Given the description of an element on the screen output the (x, y) to click on. 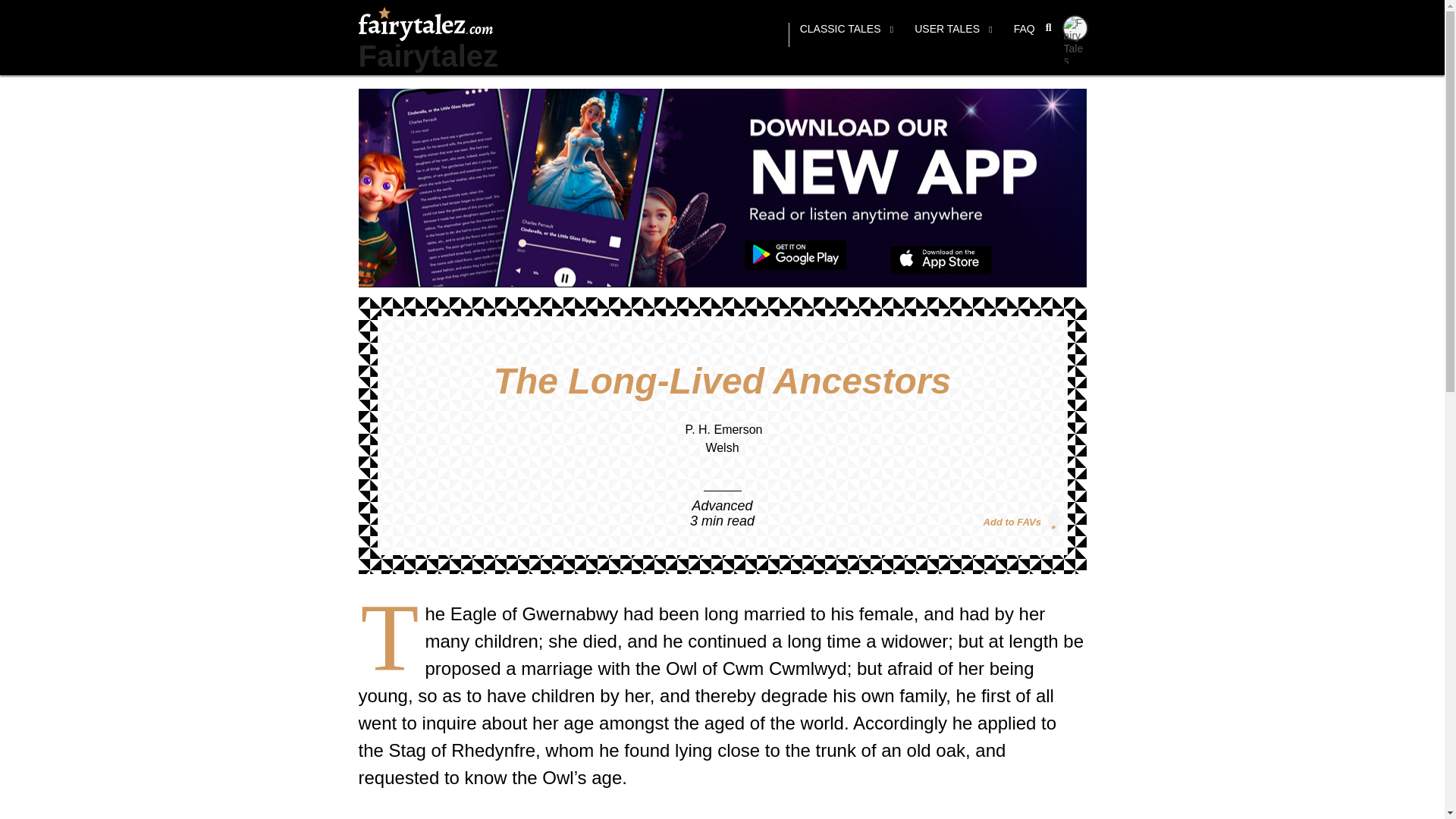
Fairytalez audio book ios app (940, 260)
Fairytalez (427, 55)
Add to FAVs (1021, 520)
FAQ (1024, 34)
View all items in P. H. Emerson (723, 429)
CLASSIC TALES (846, 34)
USER TALES (953, 34)
P. H. Emerson (723, 429)
Welsh (721, 447)
Fairytalez audio book android app (795, 255)
